Given the description of an element on the screen output the (x, y) to click on. 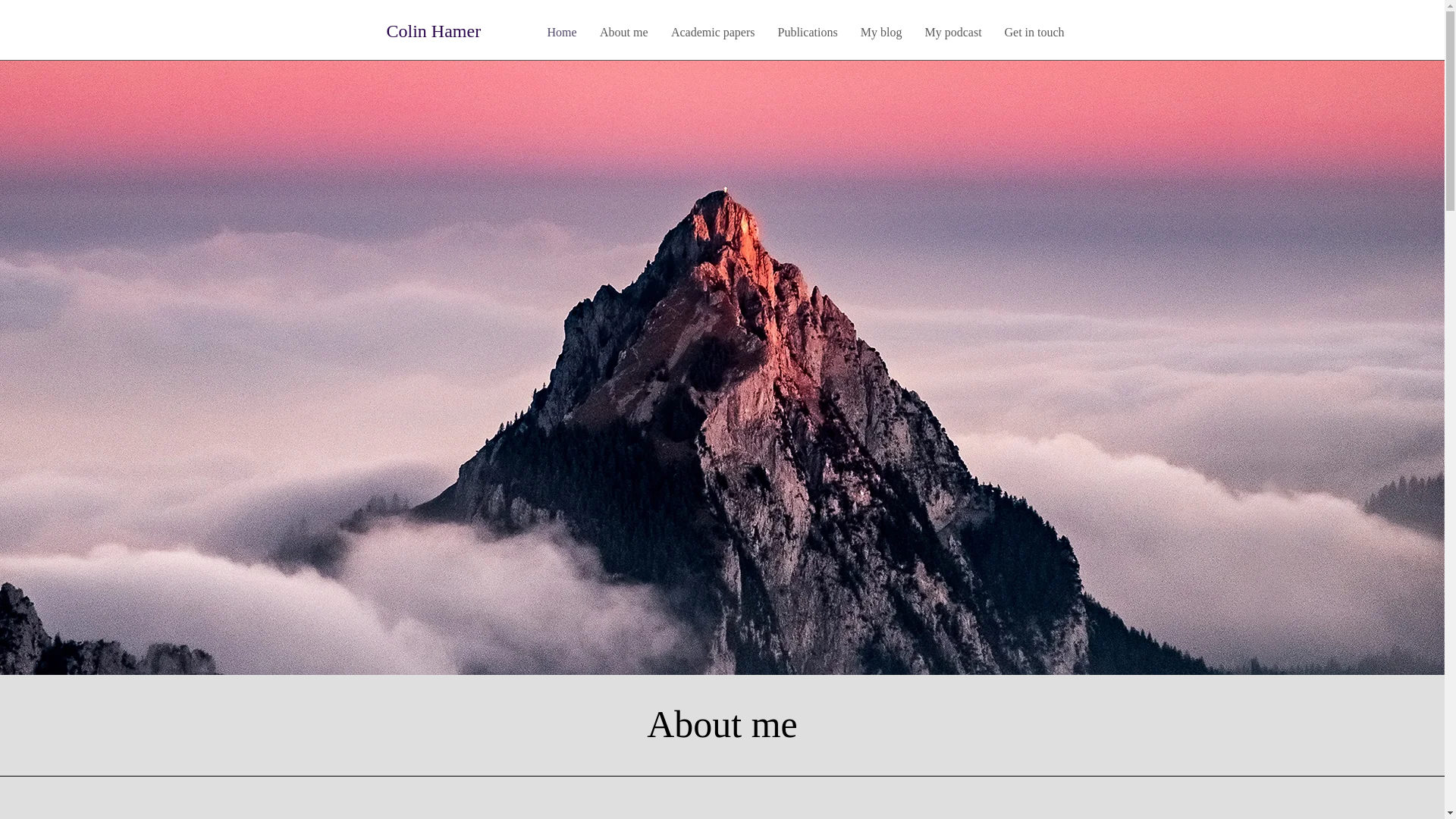
About me (623, 32)
Colin Hamer (434, 30)
Home (561, 32)
Academic papers (713, 32)
My blog (881, 32)
Get in touch (1033, 32)
My podcast (952, 32)
Publications (806, 32)
